Given the description of an element on the screen output the (x, y) to click on. 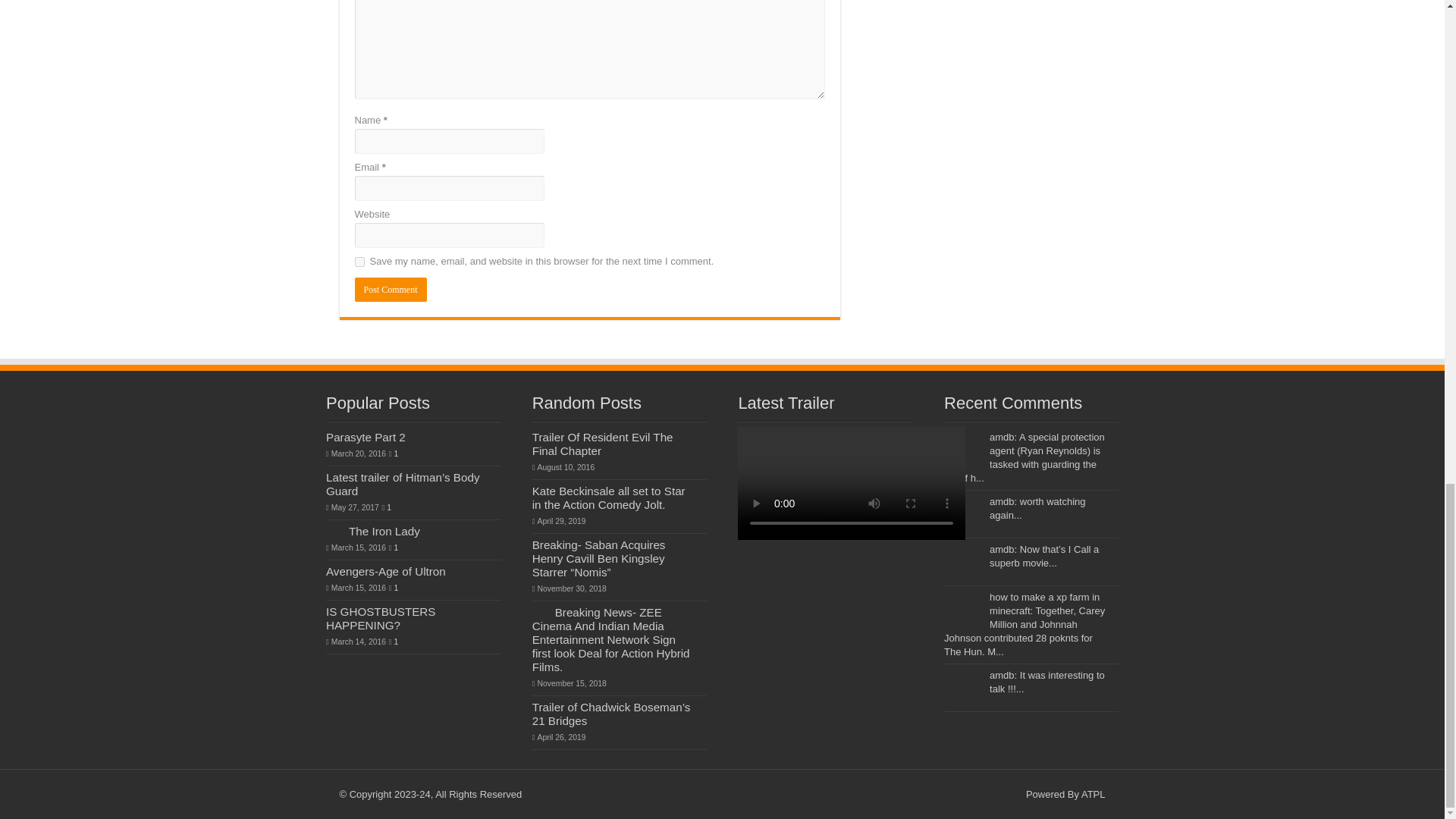
Post Comment (390, 289)
yes (360, 261)
